Given the description of an element on the screen output the (x, y) to click on. 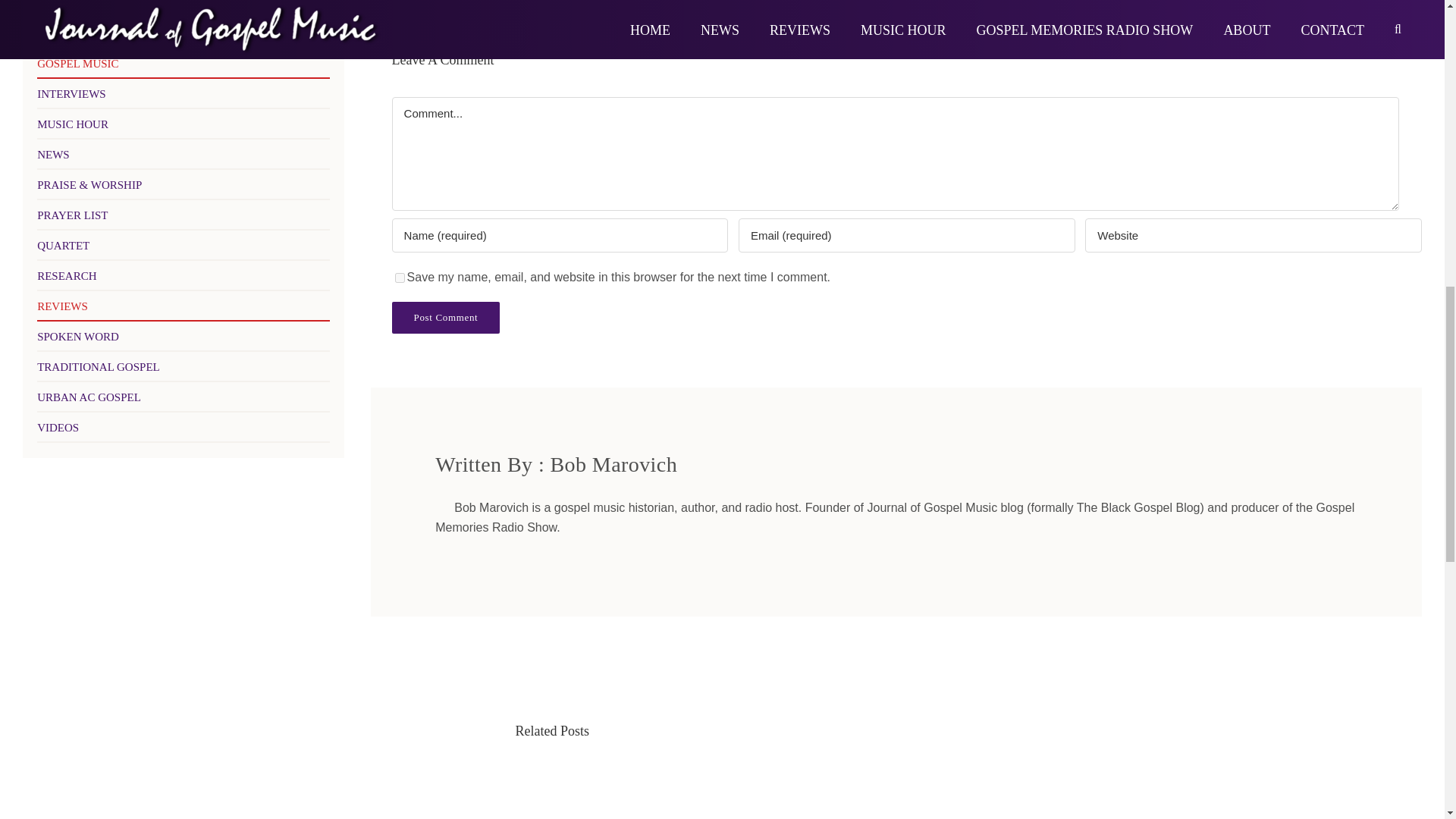
yes (399, 277)
Post Comment (445, 317)
Post Comment (445, 317)
